Given the description of an element on the screen output the (x, y) to click on. 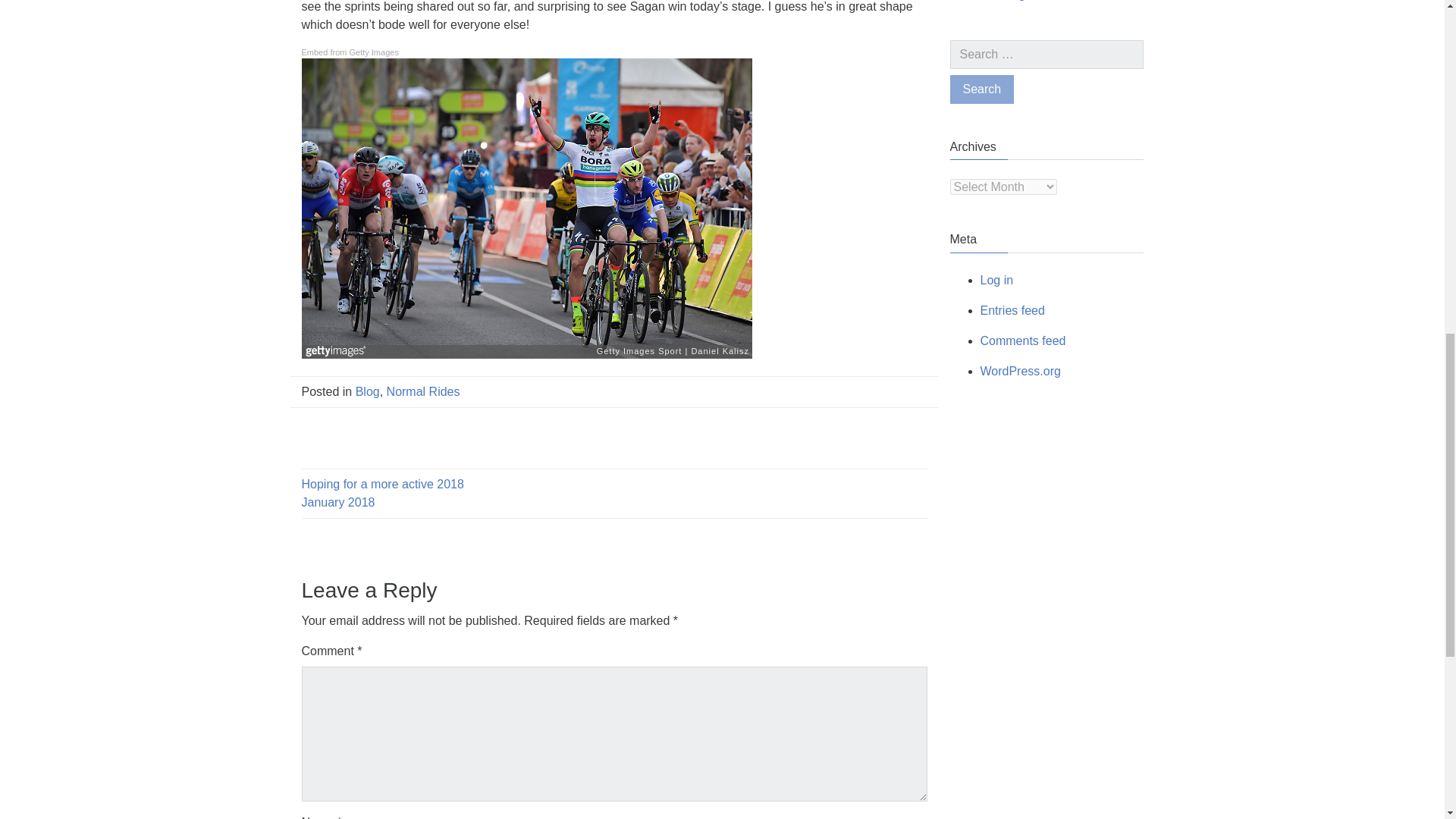
WordPress.org (1019, 370)
Log in (996, 279)
Search (981, 89)
Normal Rides (423, 391)
Entries feed (1011, 309)
Embed from Getty Images (349, 51)
Search for (1045, 54)
January 2018 (338, 502)
Blog (367, 391)
Comments feed (1022, 340)
Hoping for a more active 2018 (382, 483)
Search (981, 89)
